Given the description of an element on the screen output the (x, y) to click on. 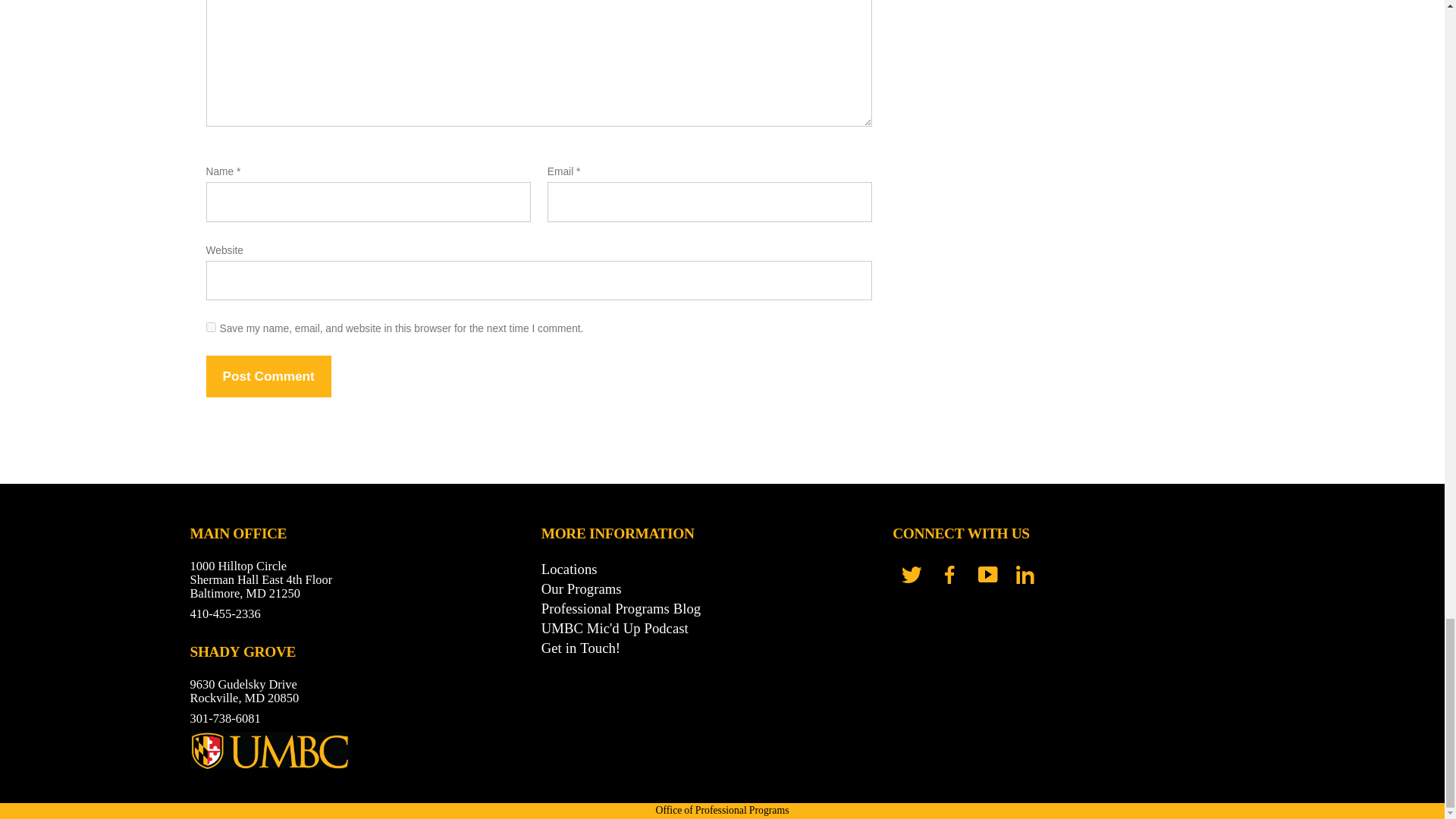
Post Comment (268, 375)
yes (210, 327)
